Given the description of an element on the screen output the (x, y) to click on. 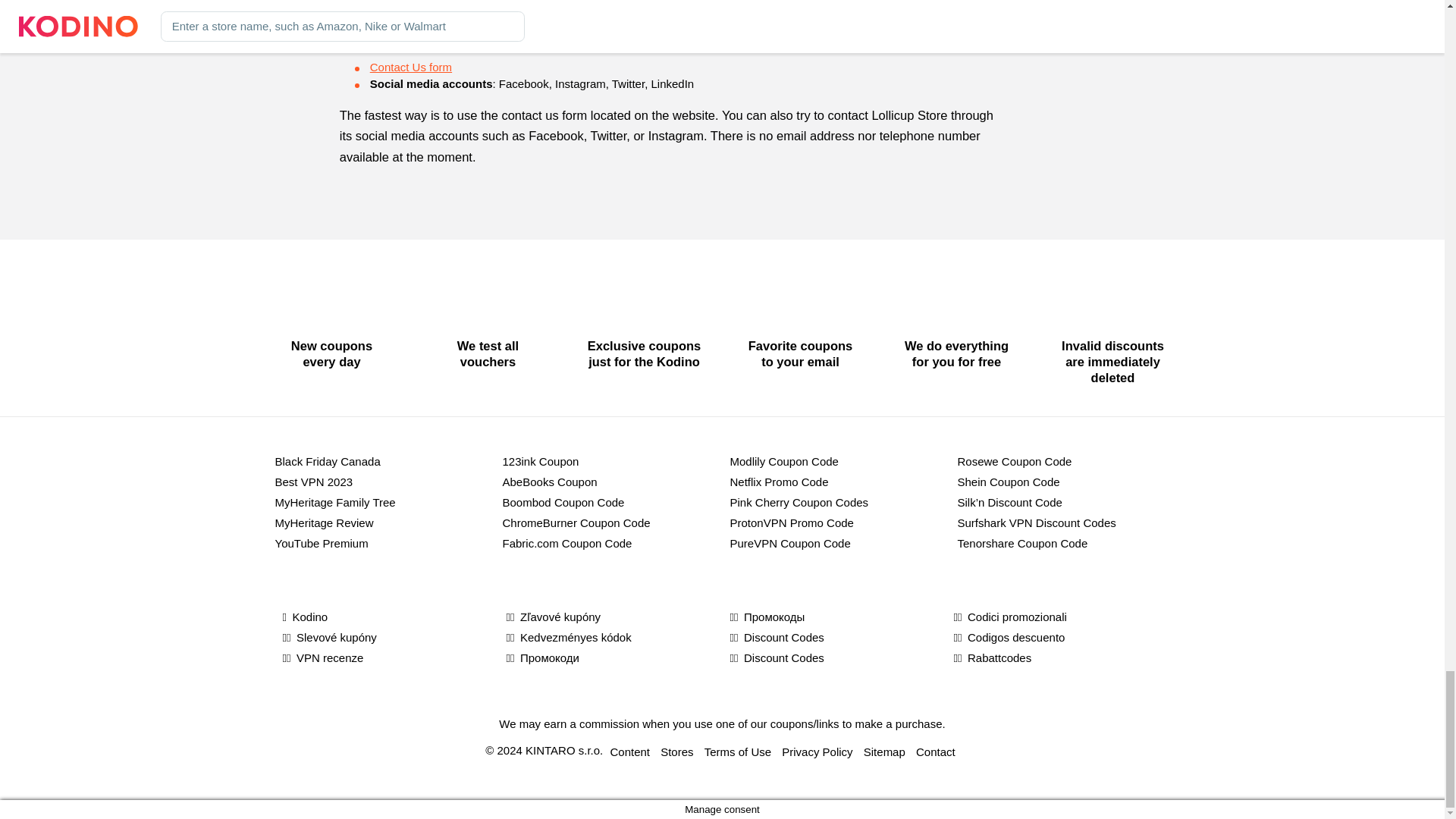
ProtonVPN Promo Code (835, 522)
AbeBooks Coupon (608, 481)
AbeBooks Coupon (608, 481)
Netflix Promo Code (835, 481)
Pink Cherry Coupon Codes (835, 502)
MyHeritage Family Tree (380, 502)
Fabric.com Coupon Code (608, 543)
YouTube Premium (380, 543)
Shein Coupon Code (1062, 481)
ChromeBurner Coupon Code (608, 522)
